Given the description of an element on the screen output the (x, y) to click on. 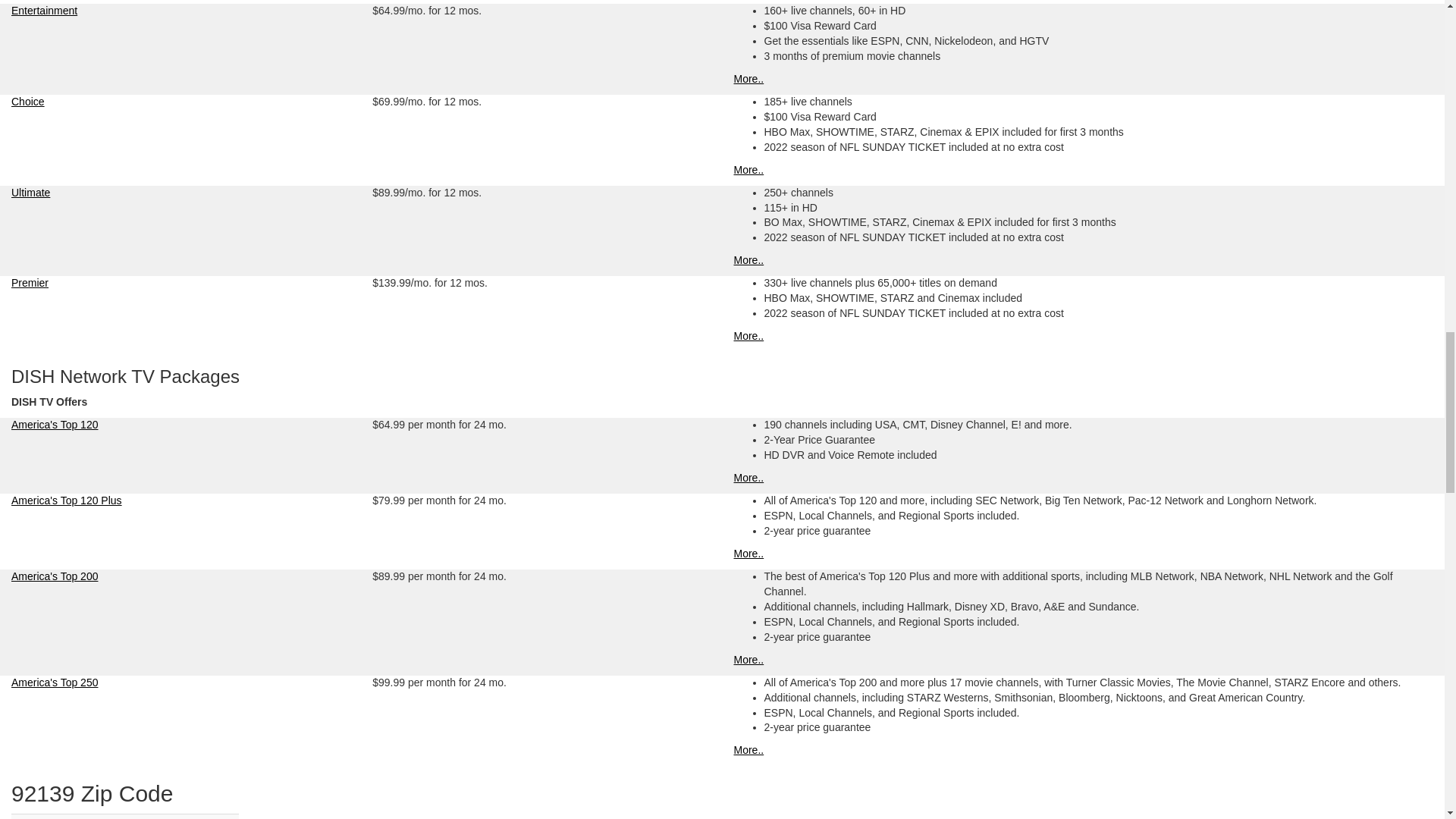
More.. (748, 336)
Choice (28, 101)
More.. (748, 553)
More.. (748, 169)
More.. (748, 477)
More.. (748, 749)
More.. (748, 78)
America's Top 200 (54, 576)
America's Top 120 (54, 424)
Entertainment (44, 10)
